Given the description of an element on the screen output the (x, y) to click on. 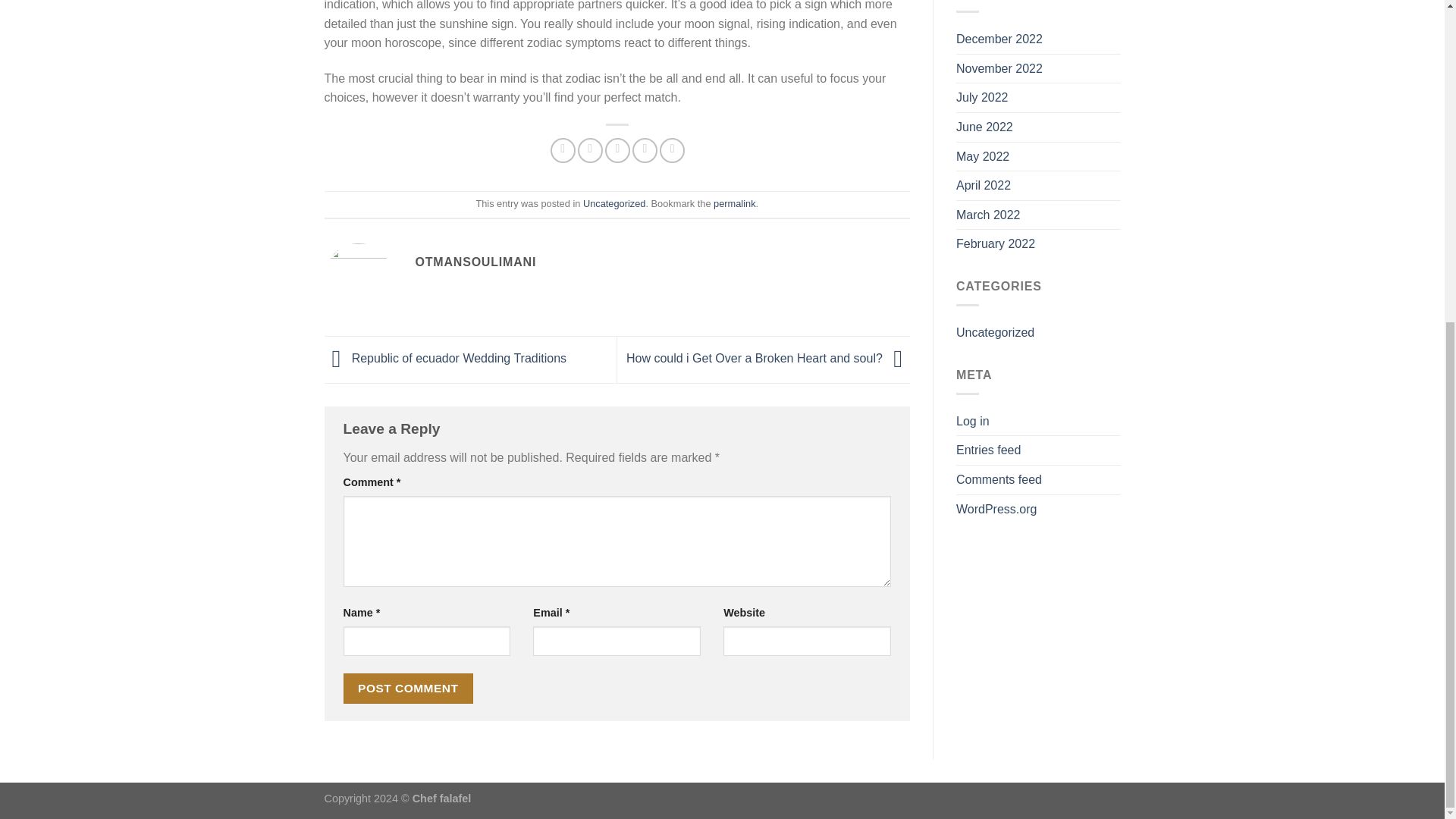
Share on LinkedIn (671, 150)
How could i Get Over a Broken Heart and soul? (768, 358)
Post Comment (407, 687)
Share on Facebook (562, 150)
Uncategorized (614, 203)
Email to a Friend (617, 150)
permalink (734, 203)
Share on Twitter (590, 150)
December 2022 (999, 39)
Post Comment (407, 687)
